Given the description of an element on the screen output the (x, y) to click on. 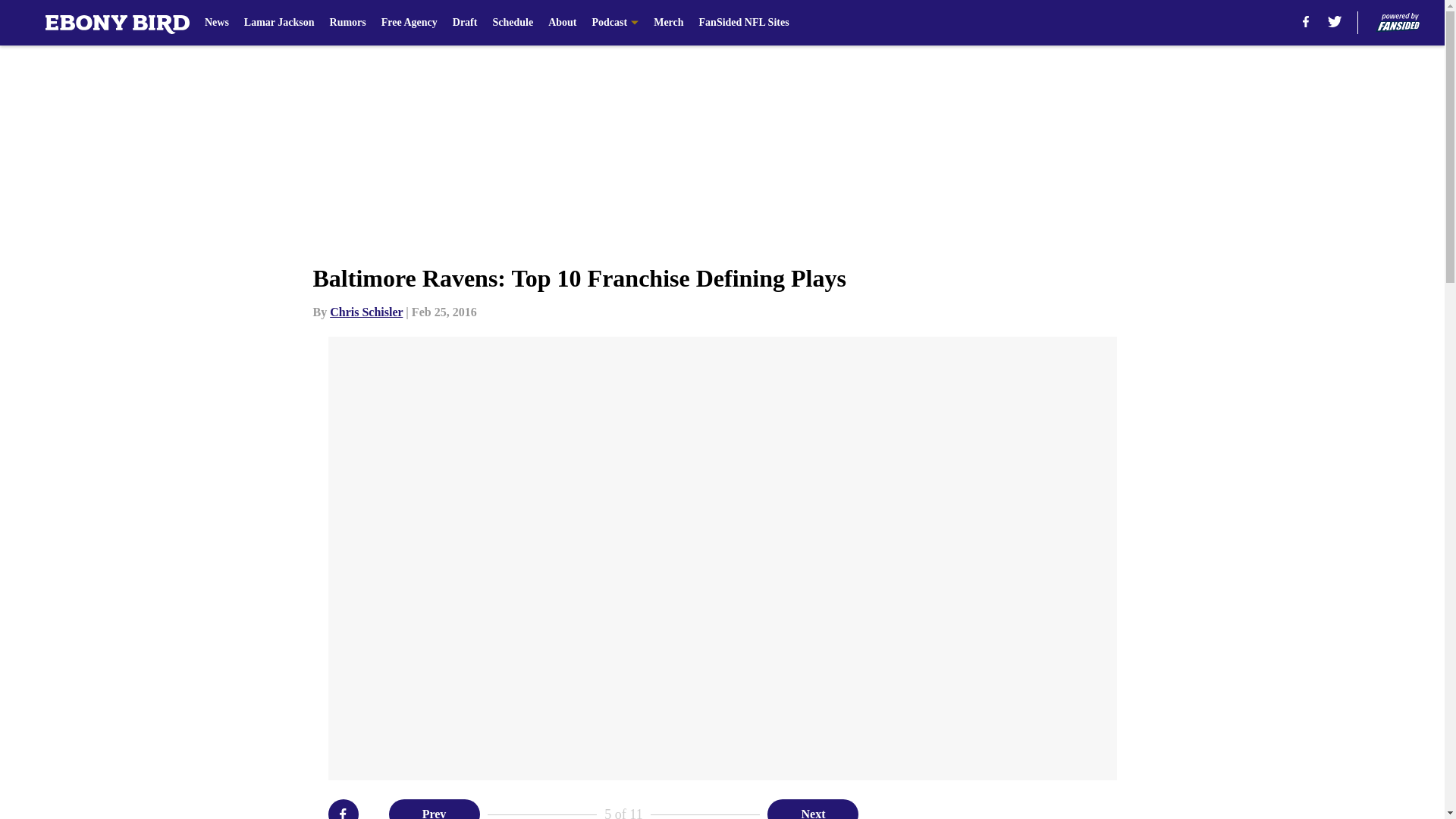
Chris Schisler (366, 311)
About (562, 22)
Schedule (512, 22)
Next (813, 809)
Prev (433, 809)
Rumors (348, 22)
Free Agency (409, 22)
Lamar Jackson (279, 22)
Merch (667, 22)
News (216, 22)
